Given the description of an element on the screen output the (x, y) to click on. 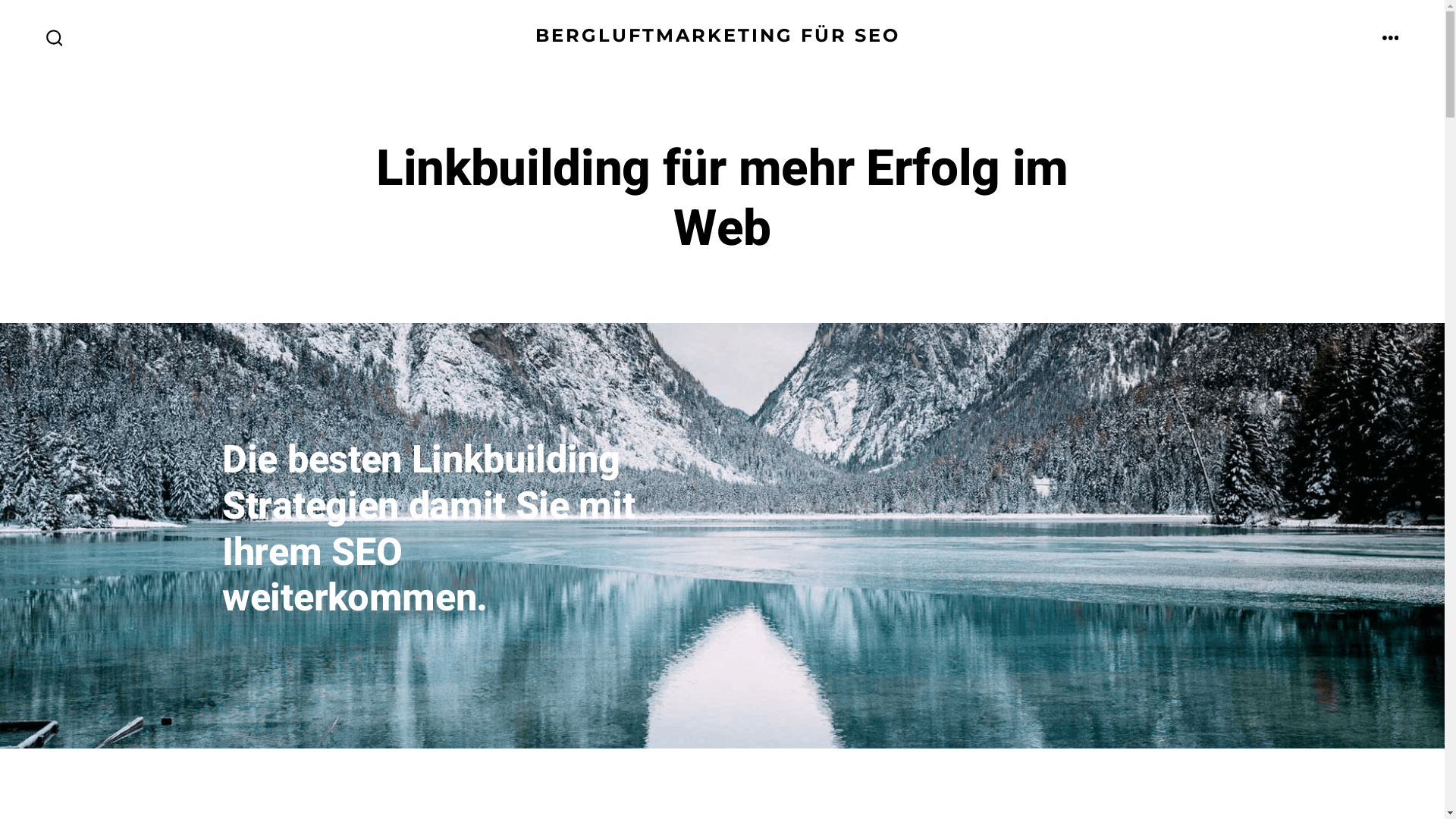
MENU Element type: text (1390, 38)
SEARCH TOGGLE Element type: text (54, 38)
